Given the description of an element on the screen output the (x, y) to click on. 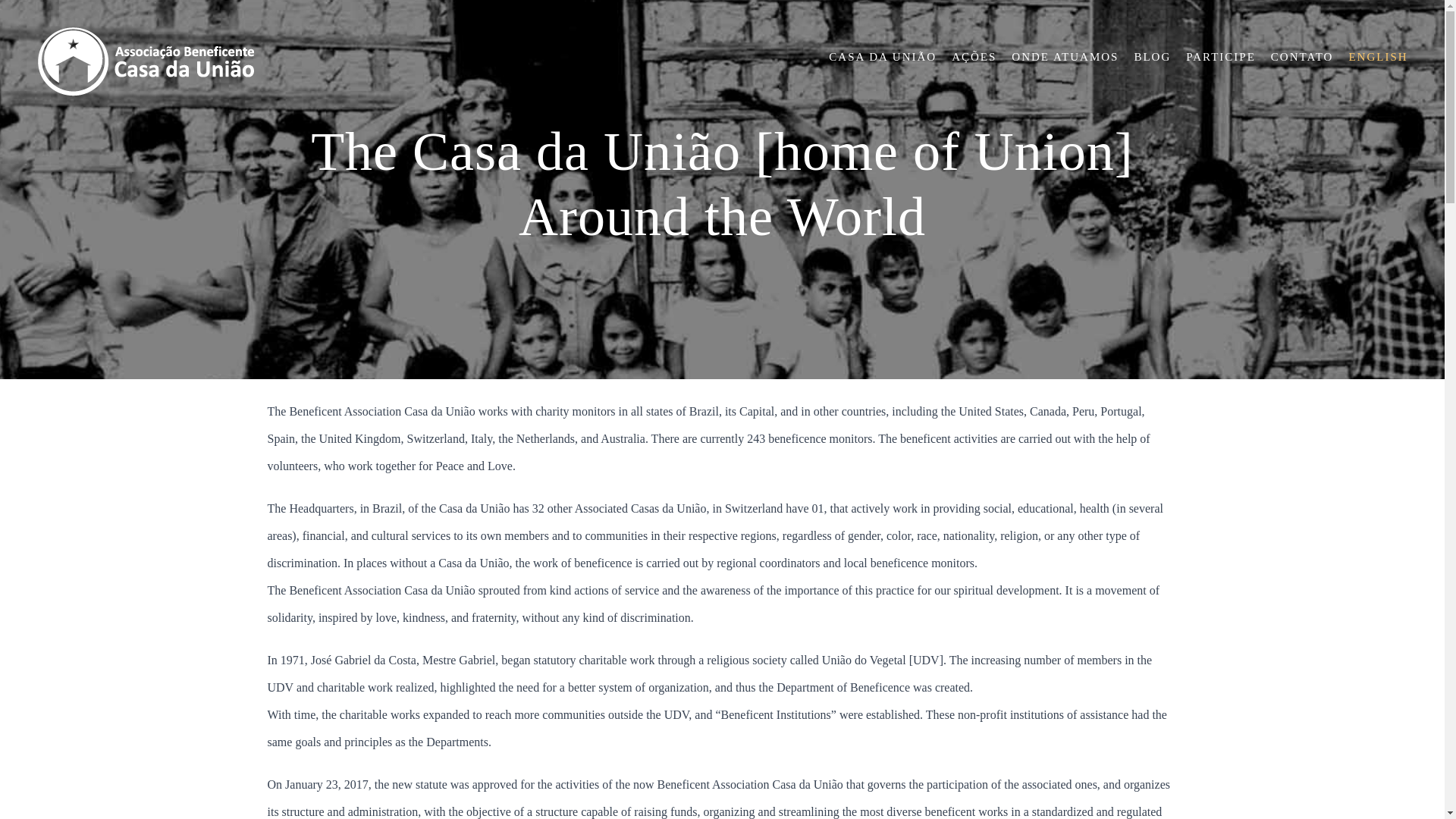
CONTATO (1302, 56)
ONDE ATUAMOS (1064, 56)
PARTICIPE (1220, 56)
BLOG (1152, 56)
ENGLISH (1377, 56)
